Given the description of an element on the screen output the (x, y) to click on. 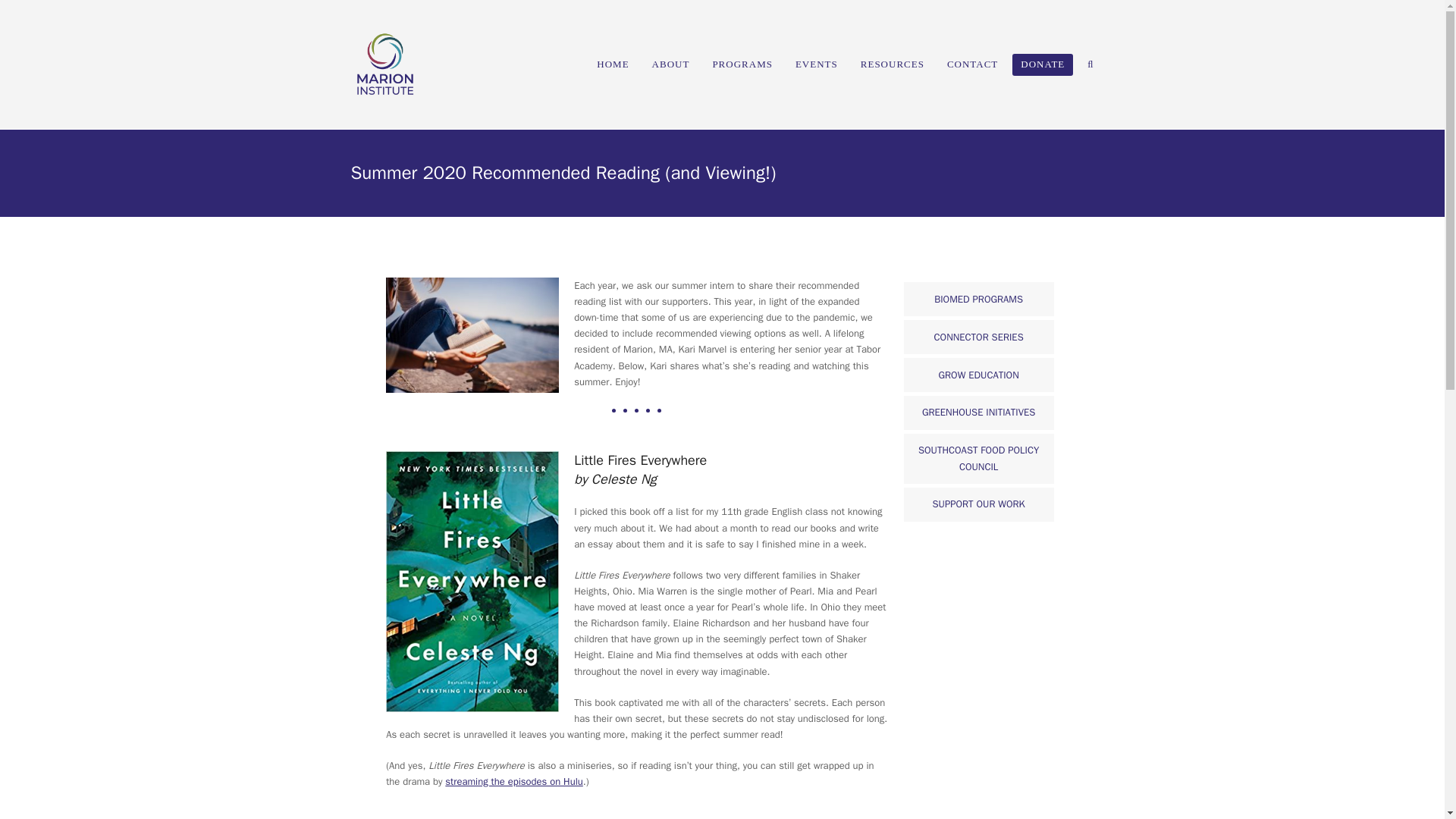
CONNECTOR SERIES (979, 336)
streaming the episodes on Hulu (513, 780)
BIOMED PROGRAMS (979, 298)
